Given the description of an element on the screen output the (x, y) to click on. 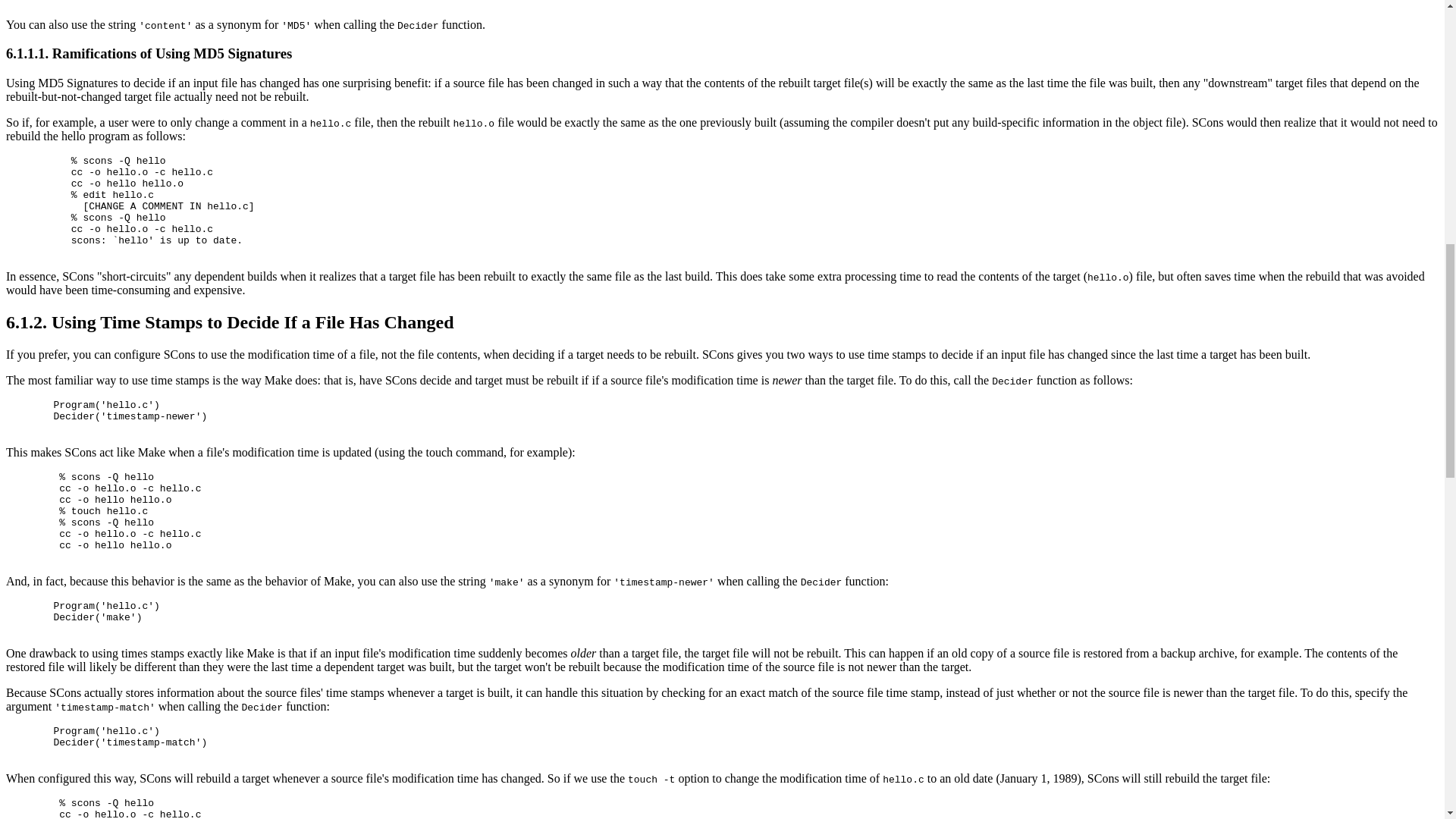
6.1.1.1. Ramifications of Using MD5 Signatures (148, 53)
6.1.2. Using Time Stamps to Decide If a File Has Changed (228, 322)
